Given the description of an element on the screen output the (x, y) to click on. 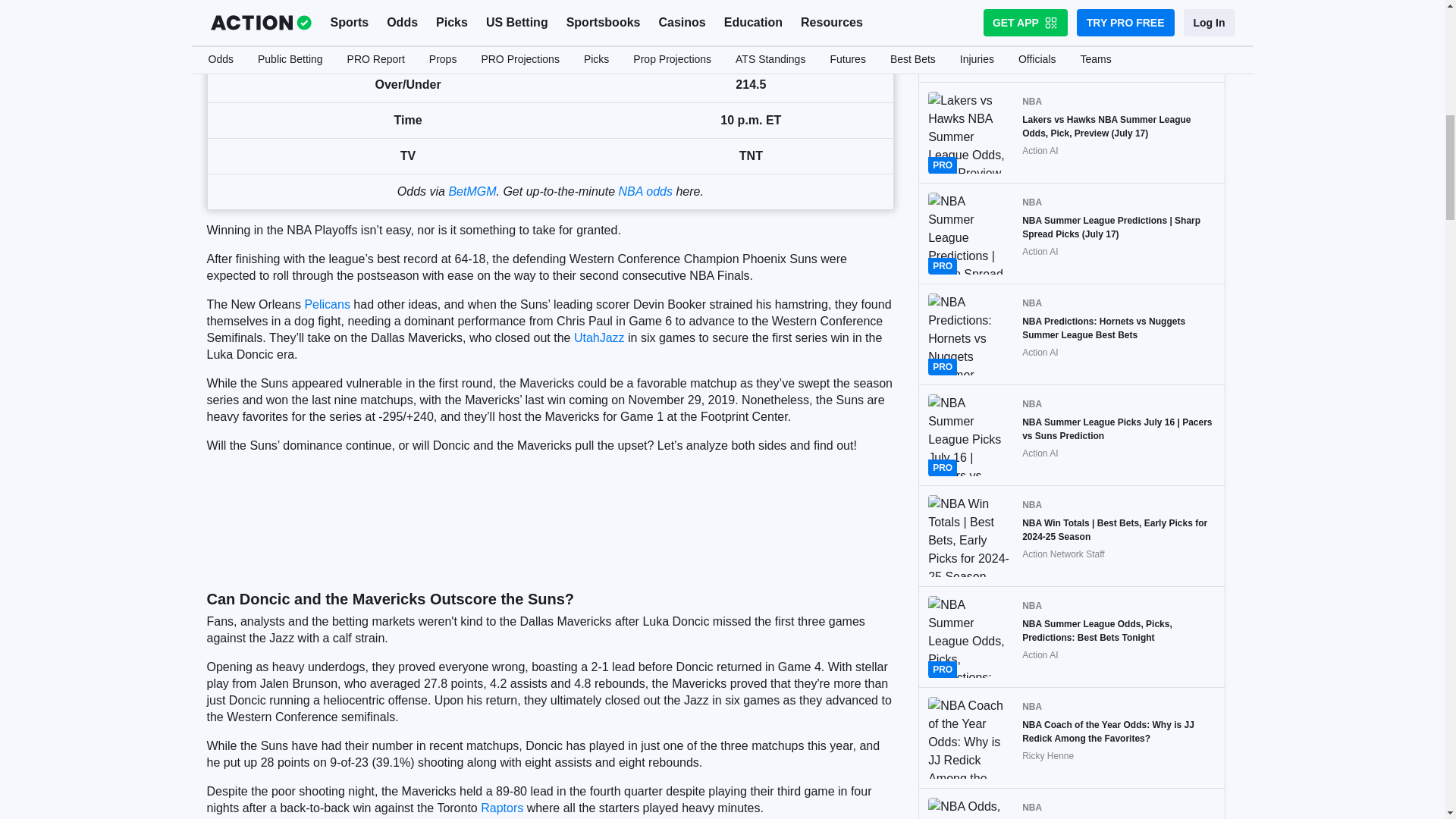
Jazz (611, 337)
Raptors (501, 807)
NBA odds (644, 191)
BetMGM (472, 191)
Utah (586, 337)
Pelicans (326, 304)
